Given the description of an element on the screen output the (x, y) to click on. 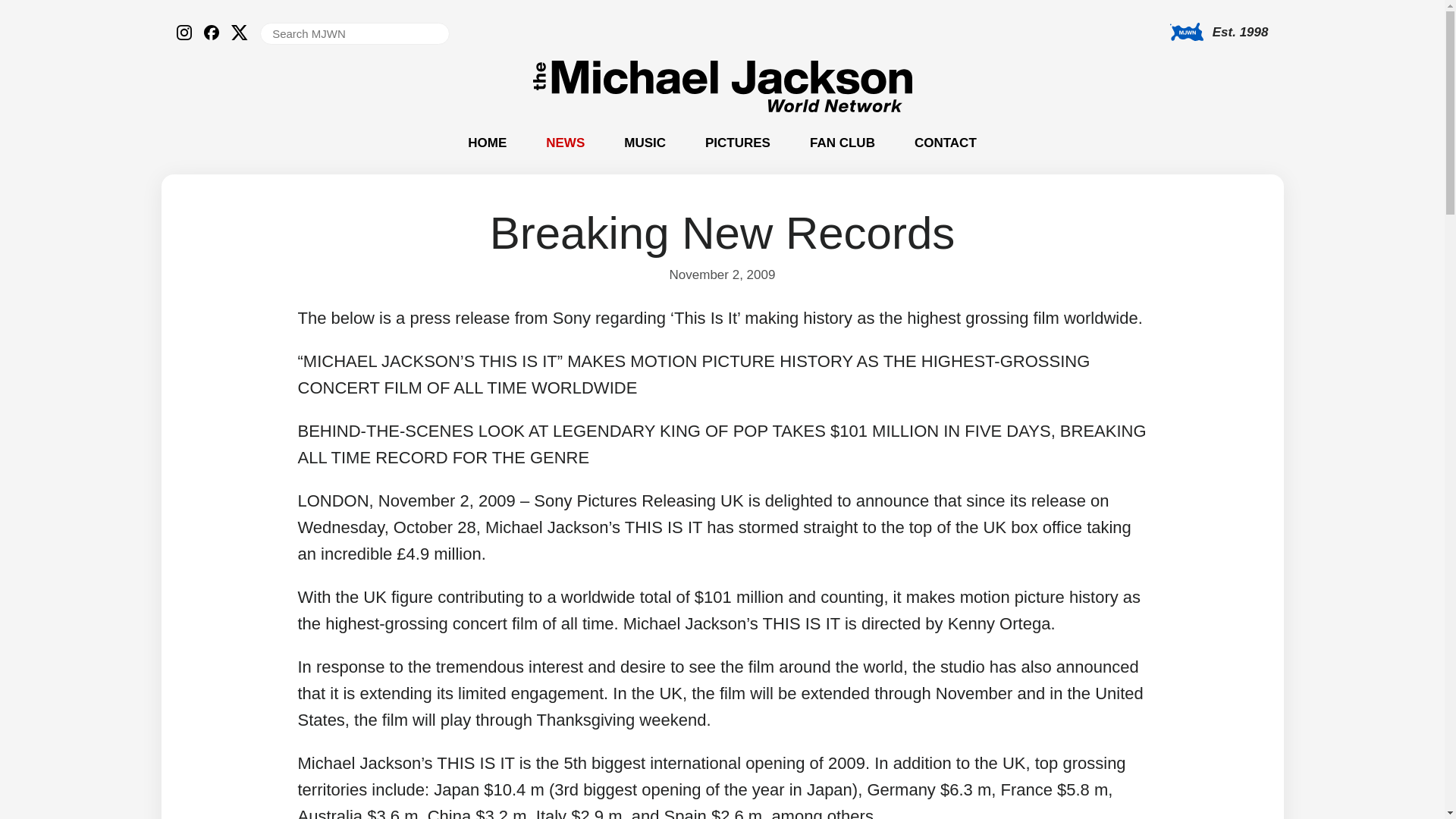
FAN CLUB (841, 143)
CONTACT (945, 143)
MUSIC (644, 143)
HOME (486, 143)
PICTURES (738, 143)
NEWS (565, 143)
